Given the description of an element on the screen output the (x, y) to click on. 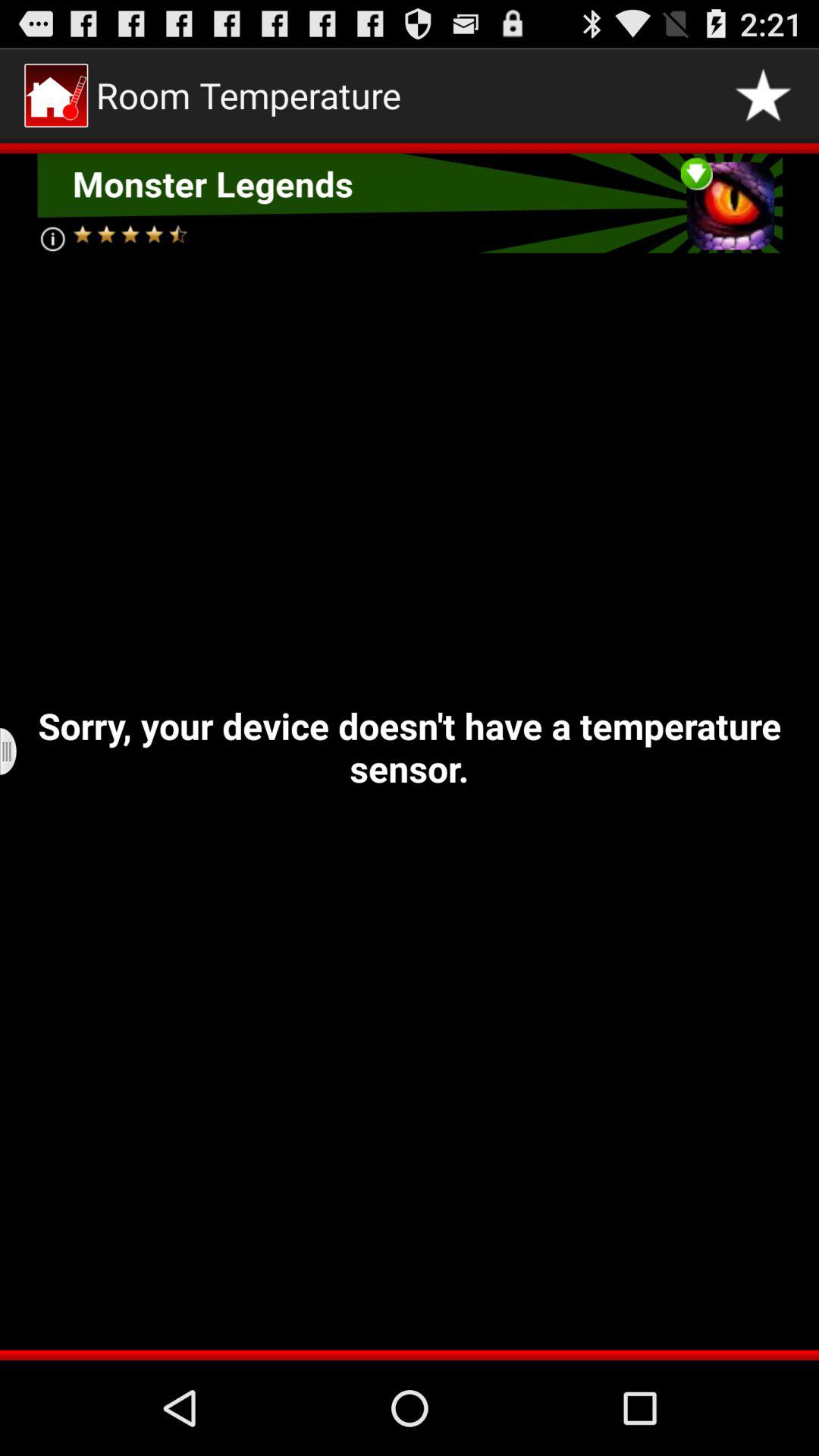
choose item to the right of room temperature item (763, 95)
